Given the description of an element on the screen output the (x, y) to click on. 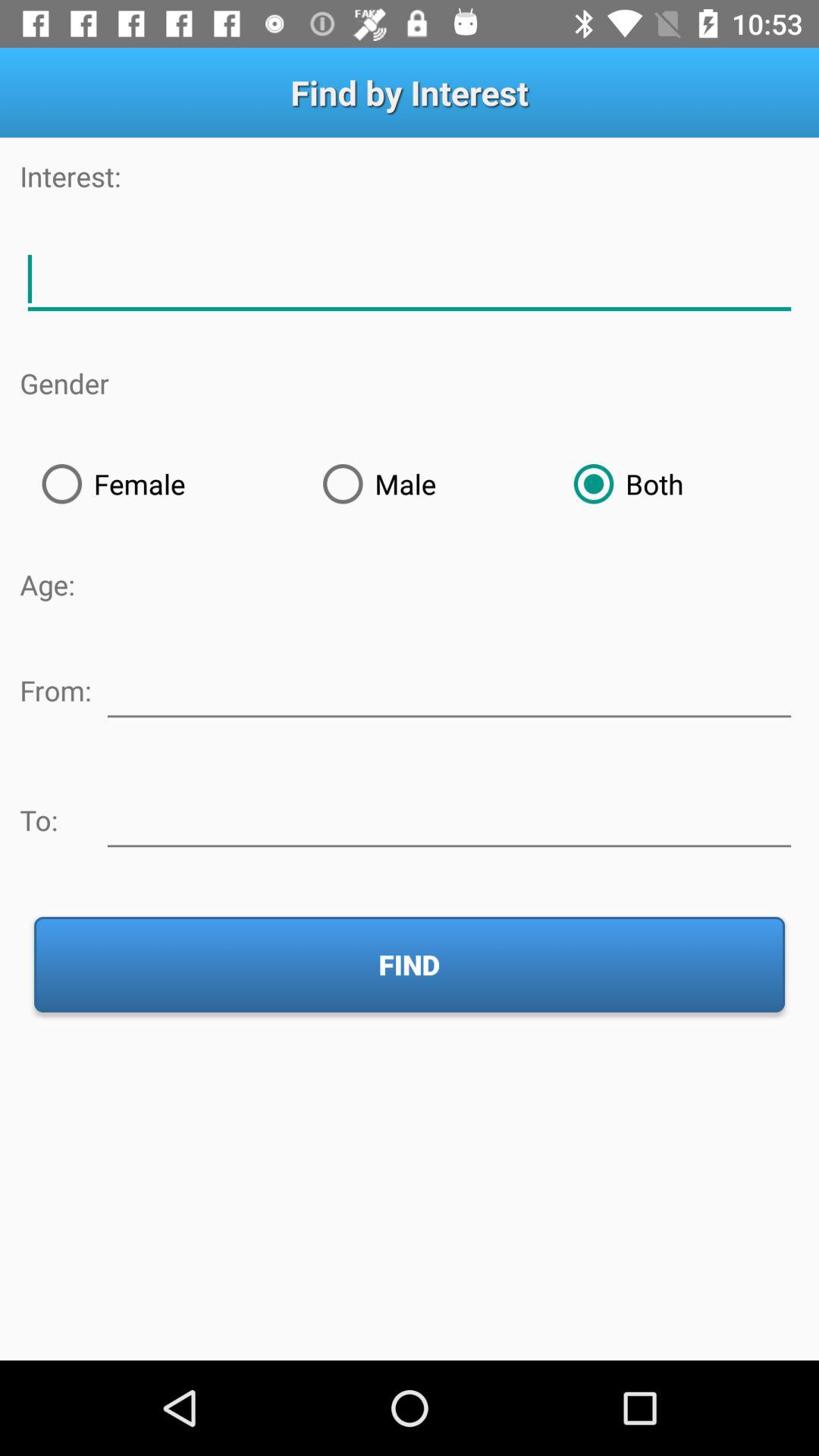
choose radio button next to the male radio button (160, 483)
